Given the description of an element on the screen output the (x, y) to click on. 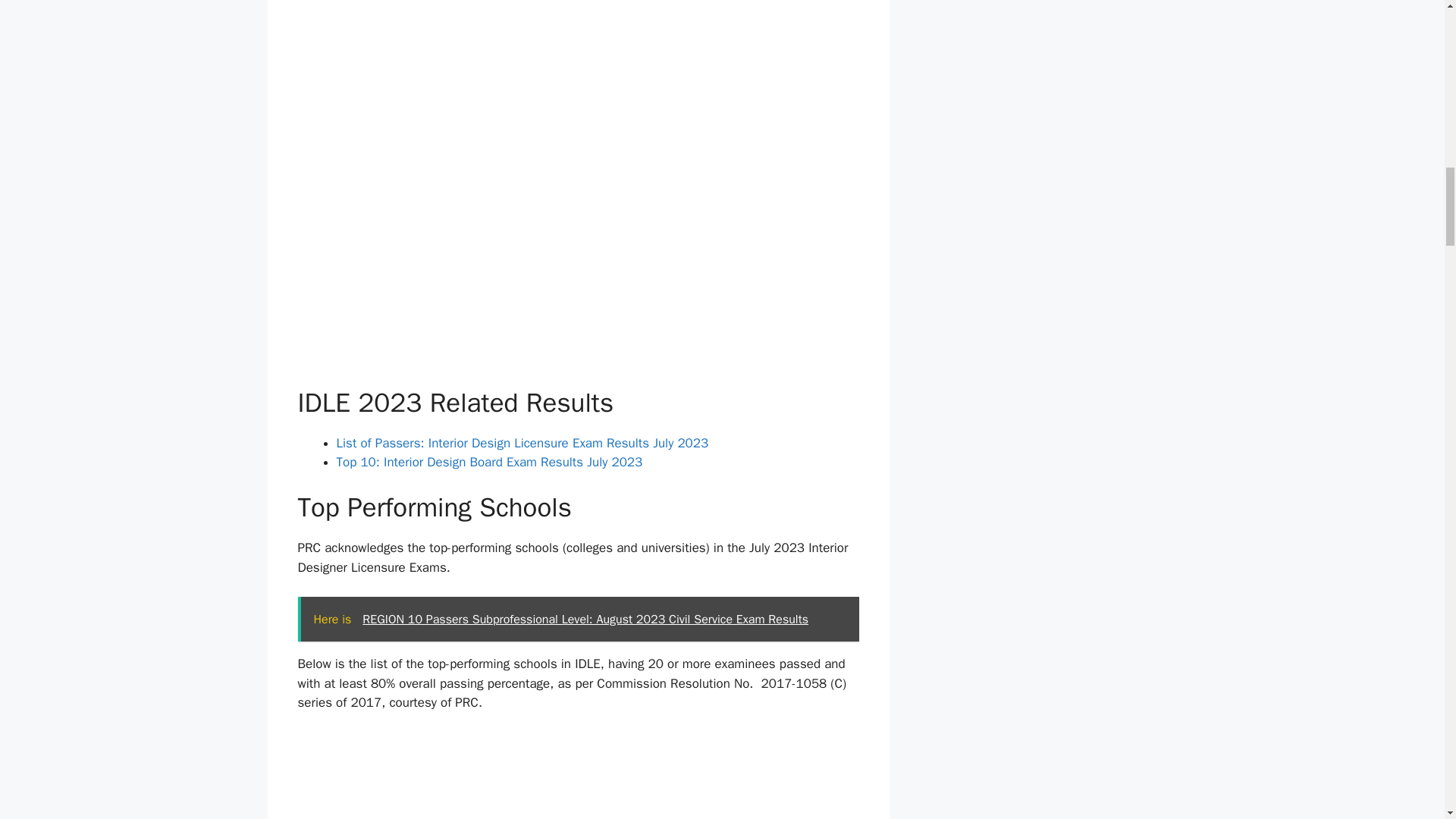
Advertisement (578, 775)
Top 10: Interior Design Board Exam Results July 2023 (489, 462)
